Given the description of an element on the screen output the (x, y) to click on. 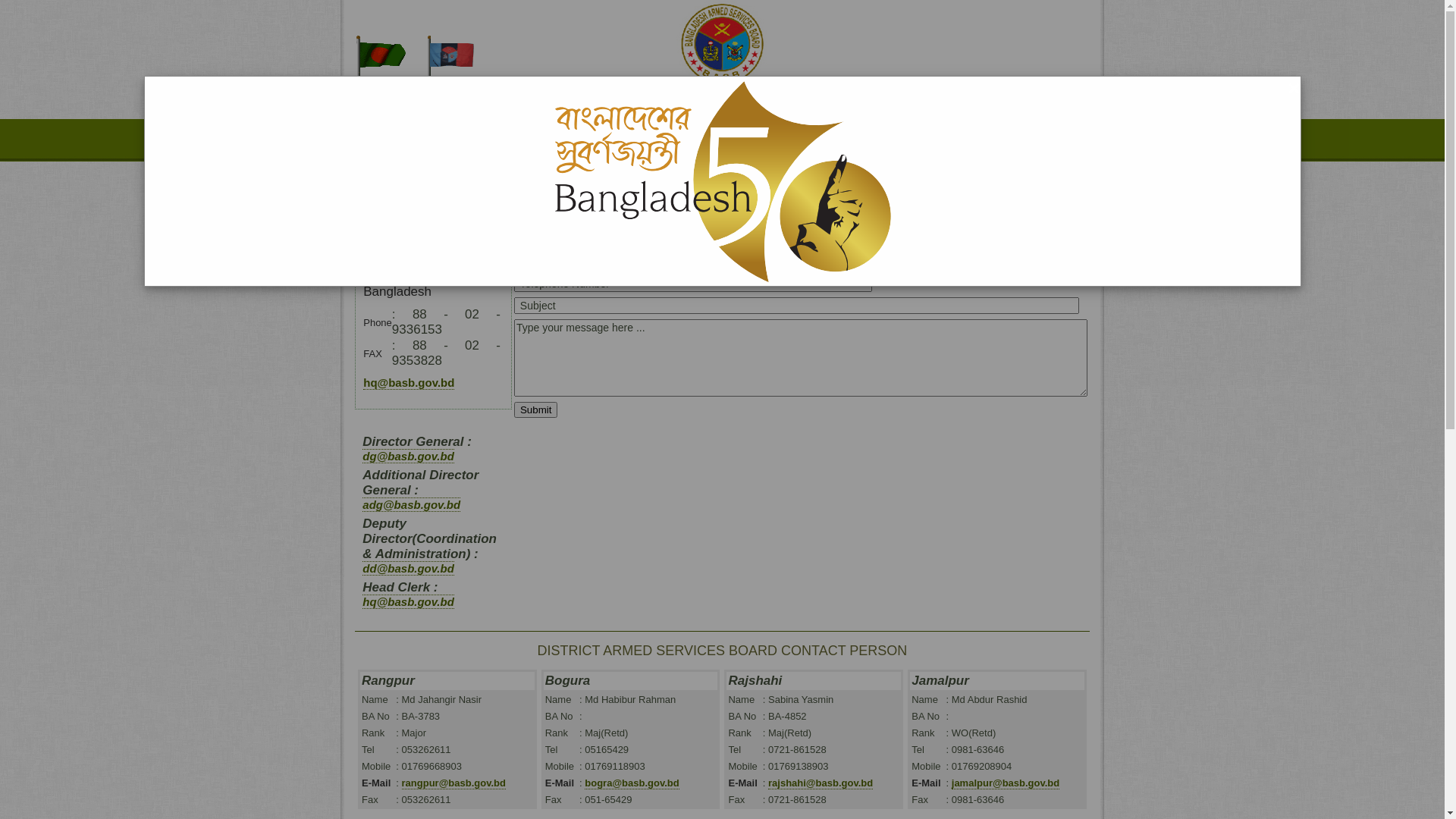
dg@basb.gov.bd Element type: text (407, 455)
jamalpur@basb.gov.bd Element type: text (1005, 783)
Available Jobs Element type: text (579, 140)
Contact Us Element type: text (761, 140)
rajshahi@basb.gov.bd Element type: text (820, 783)
hq@basb.gov.bd Element type: text (408, 382)
adg@basb.gov.bd Element type: text (411, 504)
dd@basb.gov.bd Element type: text (407, 568)
Retired Persons Element type: text (671, 140)
hq@basb.gov.bd Element type: text (407, 601)
bogra@basb.gov.bd Element type: text (631, 783)
rangpur@basb.gov.bd Element type: text (453, 783)
Welfare Activities Element type: text (485, 140)
BASB Home Element type: text (394, 140)
DISTRICT ARMED SERVICES BOARD CONTACT PERSON Element type: text (722, 650)
Submit Element type: text (535, 409)
